Given the description of an element on the screen output the (x, y) to click on. 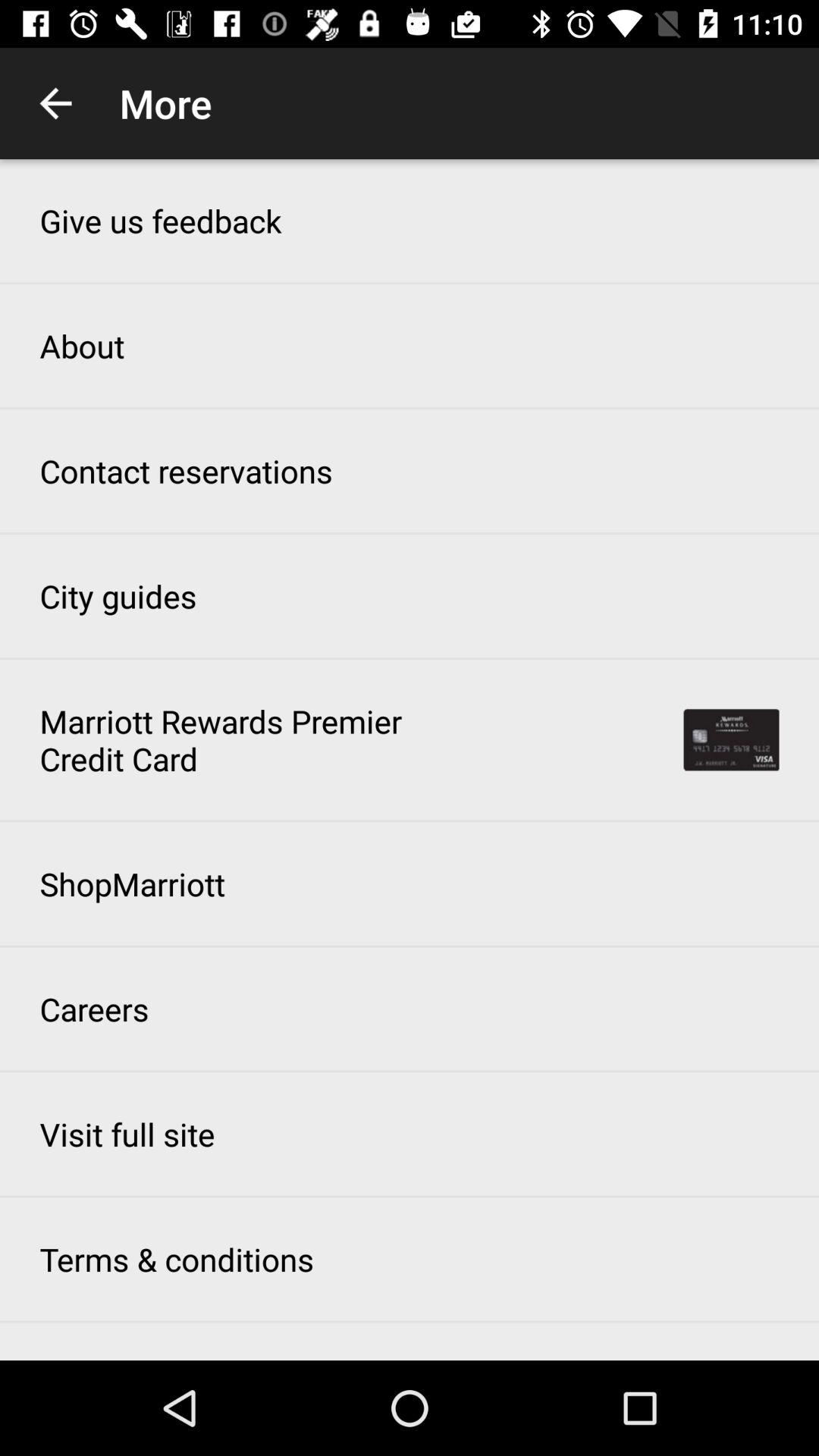
launch item above the contact reservations (81, 345)
